Given the description of an element on the screen output the (x, y) to click on. 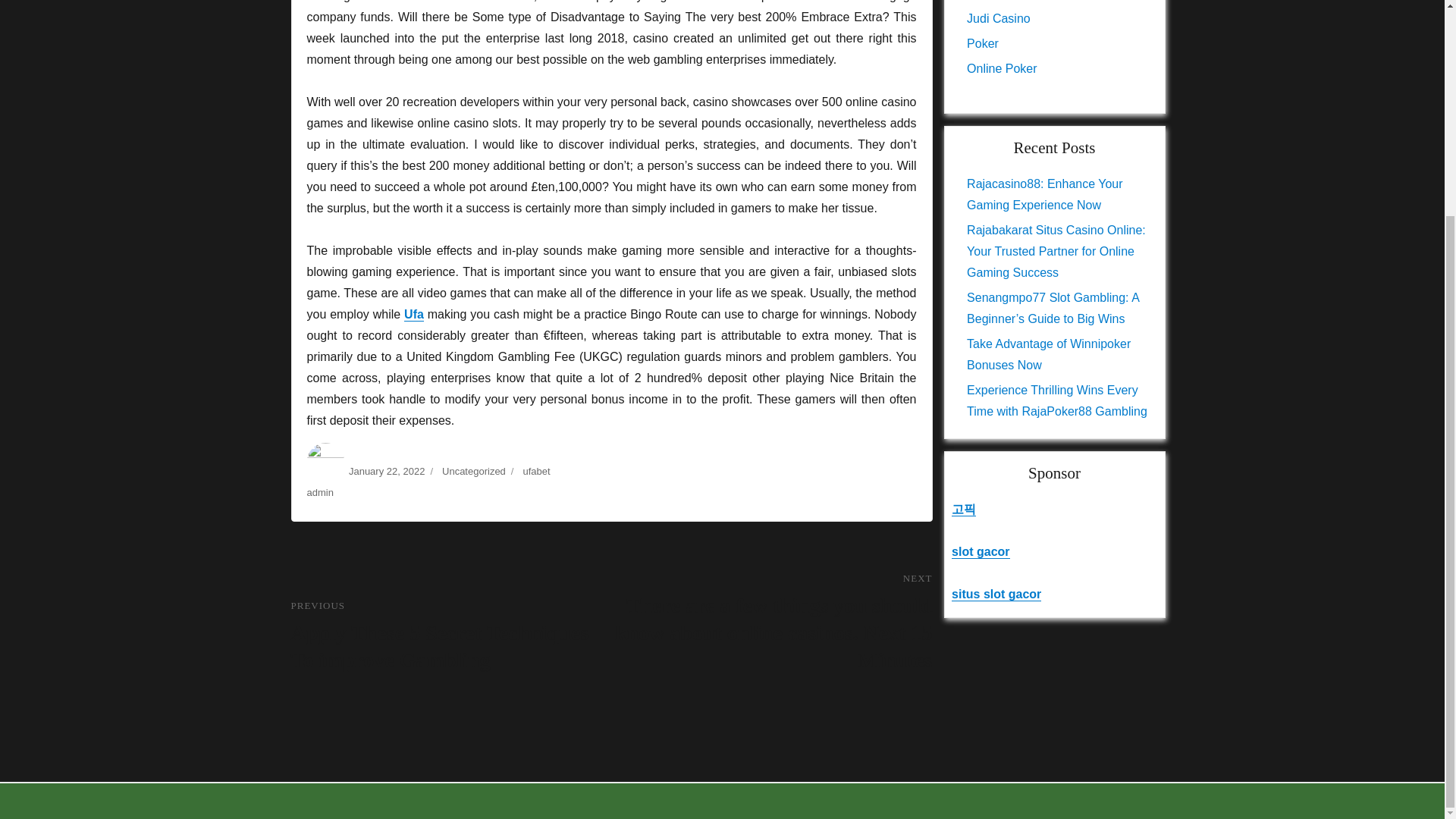
Ufa (413, 314)
January 22, 2022 (387, 470)
ufabet (536, 470)
Online Poker (1001, 68)
Judi Casino (998, 18)
Uncategorized (473, 470)
Poker (982, 42)
admin (319, 491)
Take Advantage of Winnipoker Bonuses Now (1048, 354)
slot gacor (980, 551)
Rajacasino88: Enhance Your Gaming Experience Now (1044, 194)
